Given the description of an element on the screen output the (x, y) to click on. 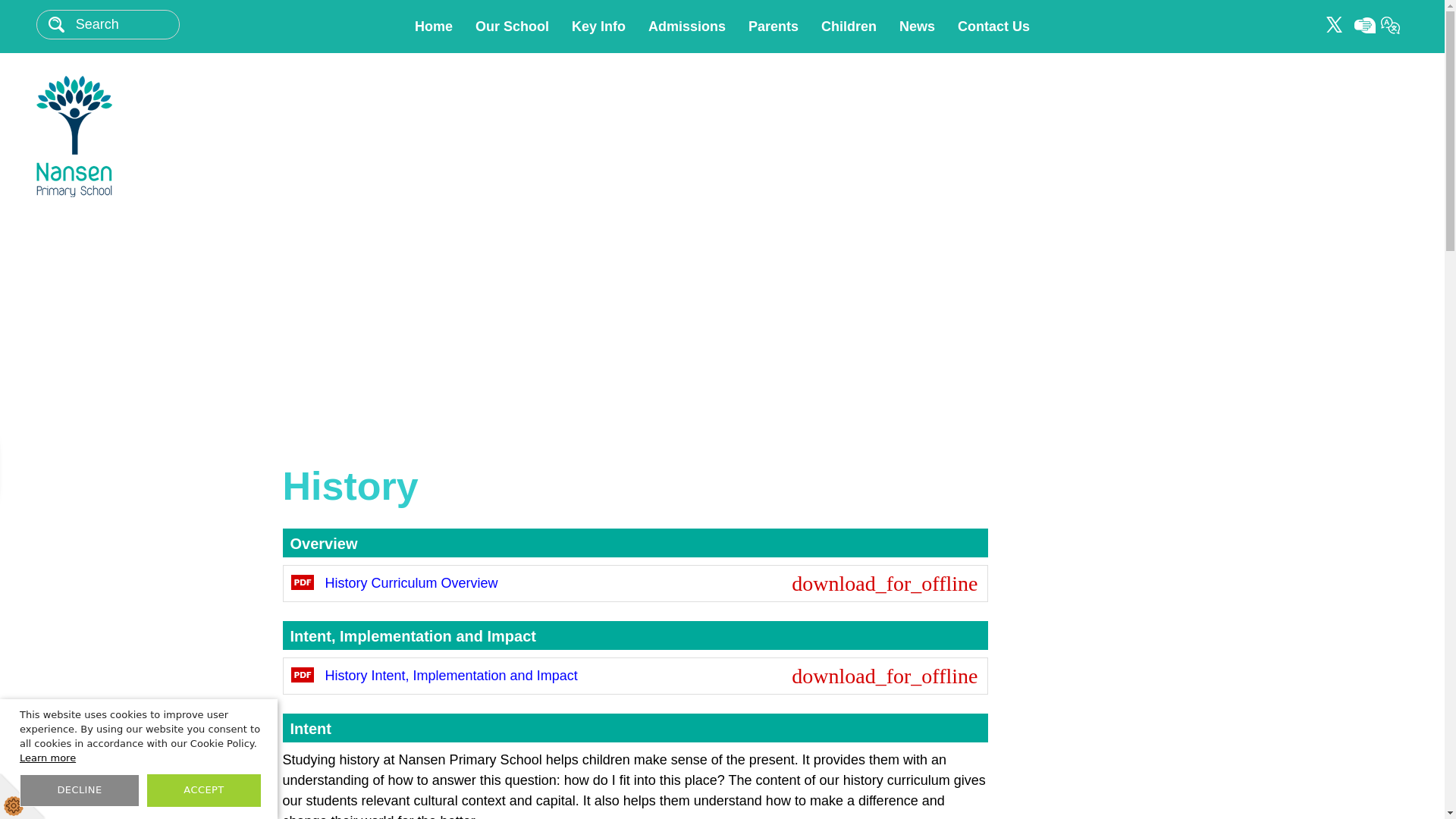
Translate (1391, 24)
Our School (511, 26)
X (1334, 24)
Admissions (686, 26)
Search (126, 24)
Parents (165, 136)
Parent Pay (773, 26)
Key Info (1364, 25)
Home (598, 26)
